Given the description of an element on the screen output the (x, y) to click on. 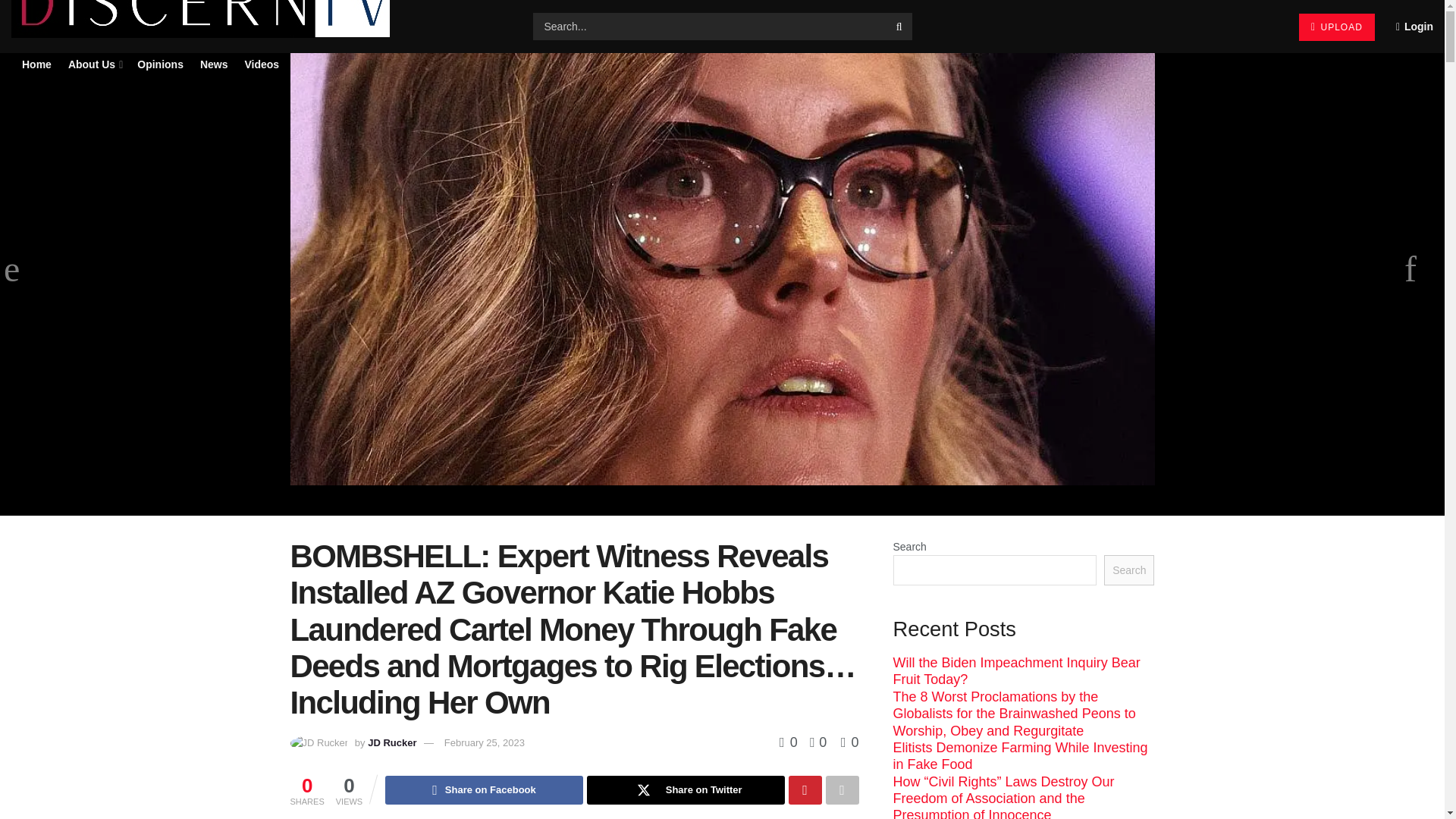
February 25, 2023 (484, 742)
About Us (94, 63)
0 (790, 742)
Share on Twitter (685, 789)
0 (850, 742)
Share on Facebook (484, 789)
JD Rucker (392, 742)
0 (814, 742)
UPLOAD (1336, 26)
